Given the description of an element on the screen output the (x, y) to click on. 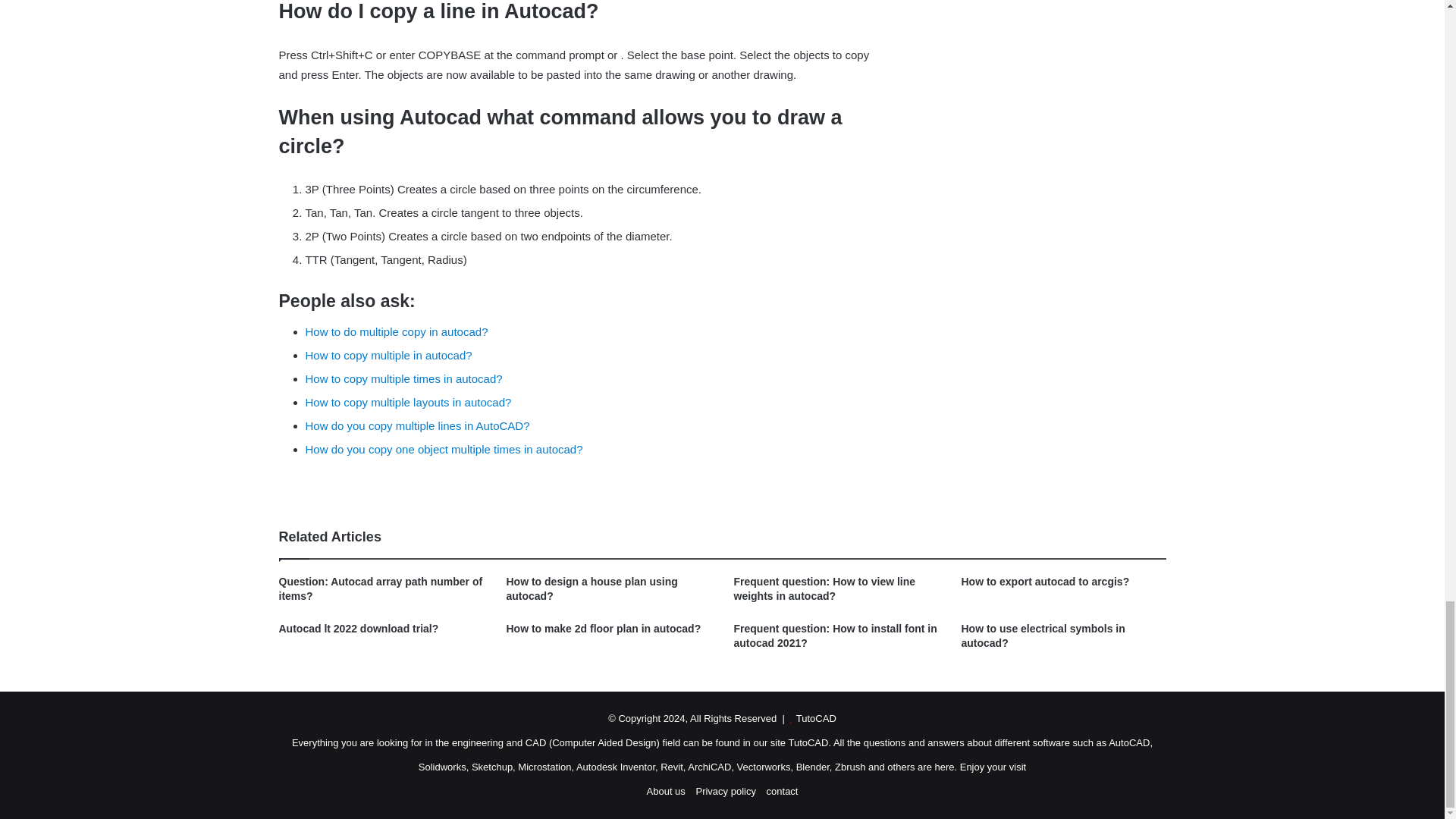
How to do multiple copy in autocad? (395, 331)
How to copy multiple layouts in autocad? (407, 401)
How do you copy multiple lines in AutoCAD? (416, 425)
How to copy multiple in autocad? (387, 354)
How to copy multiple times in autocad? (403, 378)
How do you copy one object multiple times in autocad? (443, 449)
